Given the description of an element on the screen output the (x, y) to click on. 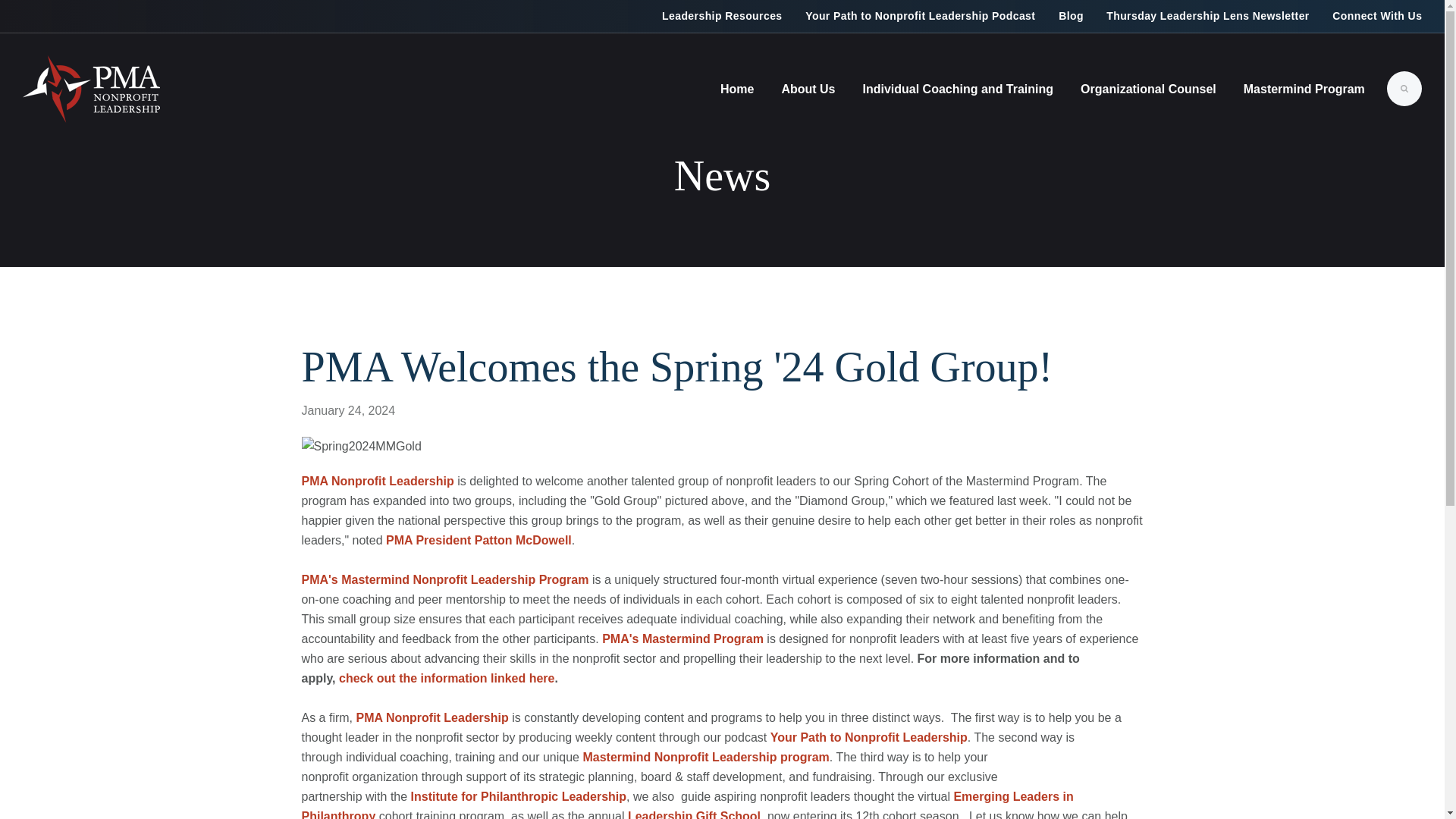
Leadership Resources (727, 16)
Individual Coaching and Training (957, 88)
Your Path to Nonprofit Leadership Podcast (919, 16)
Thursday Leadership Lens Newsletter (1207, 16)
Home (736, 88)
Institute for Philanthropic Leadership (518, 796)
PMA President Patton McDowell (478, 540)
Mastermind Nonprofit Leadership program (705, 757)
PMA's Mastermind Program (682, 638)
Blog (1070, 16)
